Given the description of an element on the screen output the (x, y) to click on. 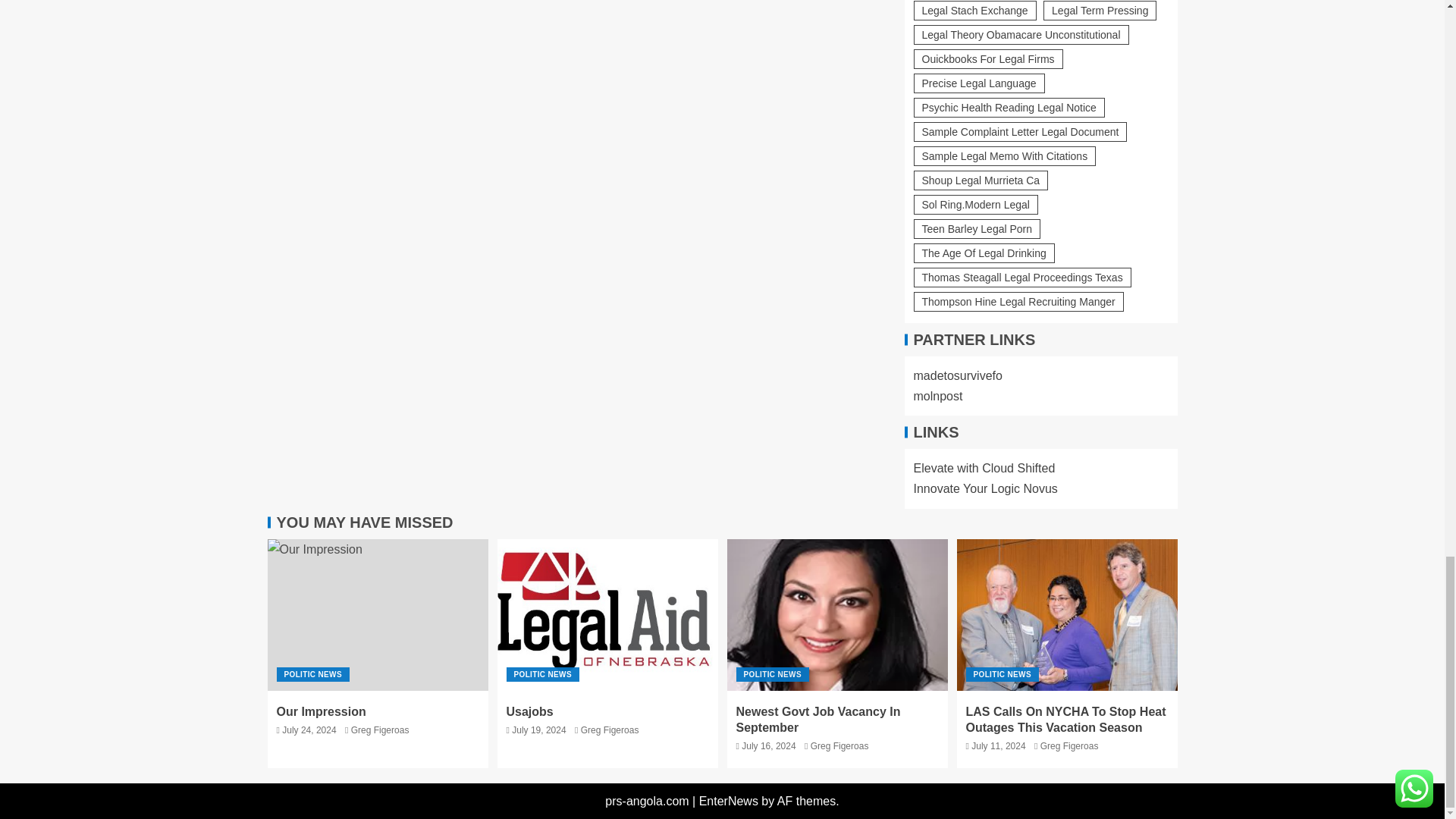
Usajobs (607, 614)
Our Impression (376, 614)
